Given the description of an element on the screen output the (x, y) to click on. 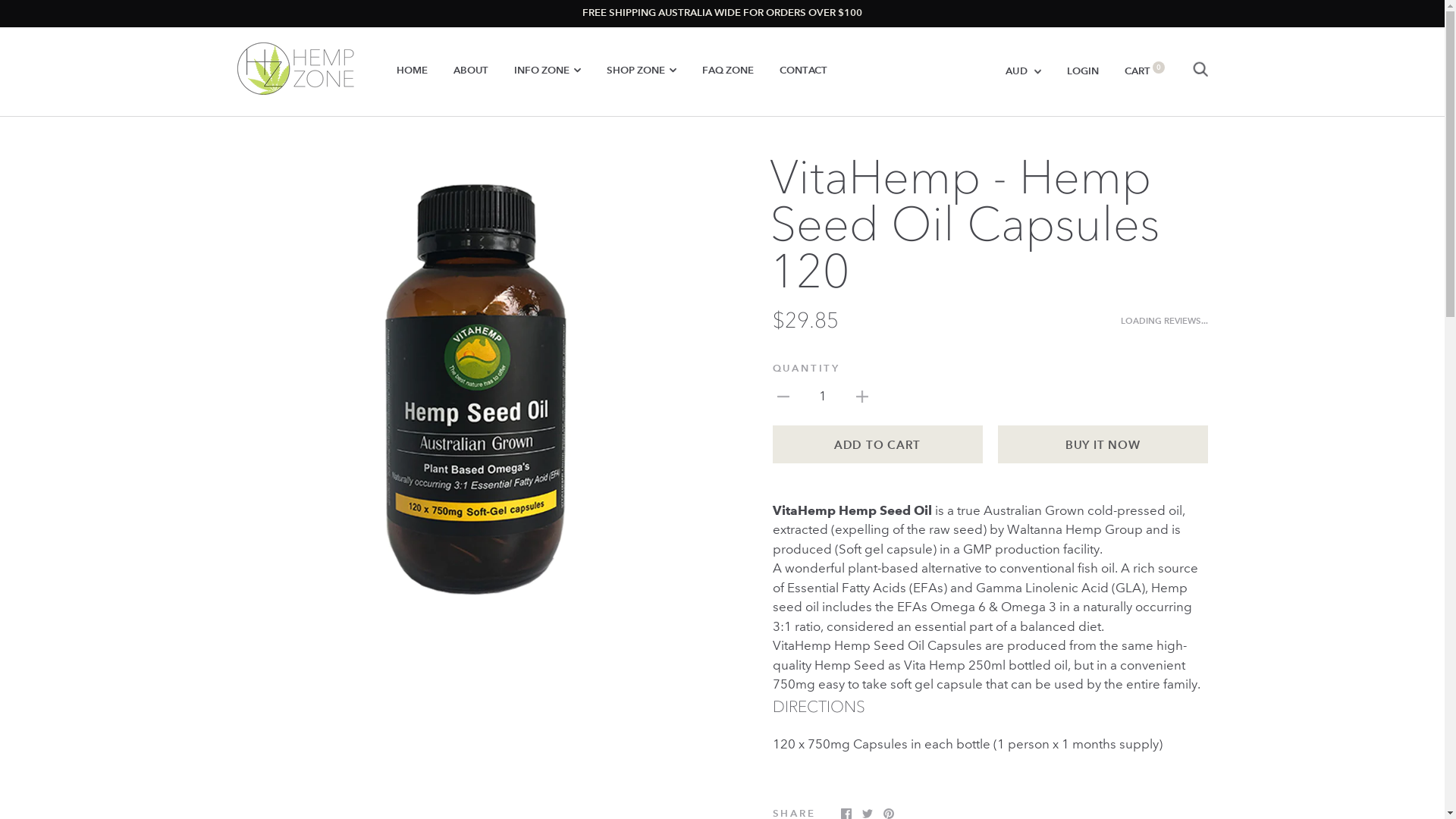
Increase quantity by 1 Element type: hover (861, 395)
INFO ZONE Element type: text (547, 70)
LOGIN Element type: text (1082, 71)
CART 0 Element type: text (1143, 71)
HOME Element type: text (410, 70)
ABOUT Element type: text (470, 70)
SHOP ZONE Element type: text (641, 70)
CONTACT Element type: text (803, 70)
ADD TO CART Element type: text (876, 444)
BUY IT NOW Element type: text (1102, 444)
FREE SHIPPING AUSTRALIA WIDE FOR ORDERS OVER $100 Element type: text (722, 13)
FAQ ZONE Element type: text (727, 70)
Decrease quantity by 1 Element type: hover (782, 395)
